Given the description of an element on the screen output the (x, y) to click on. 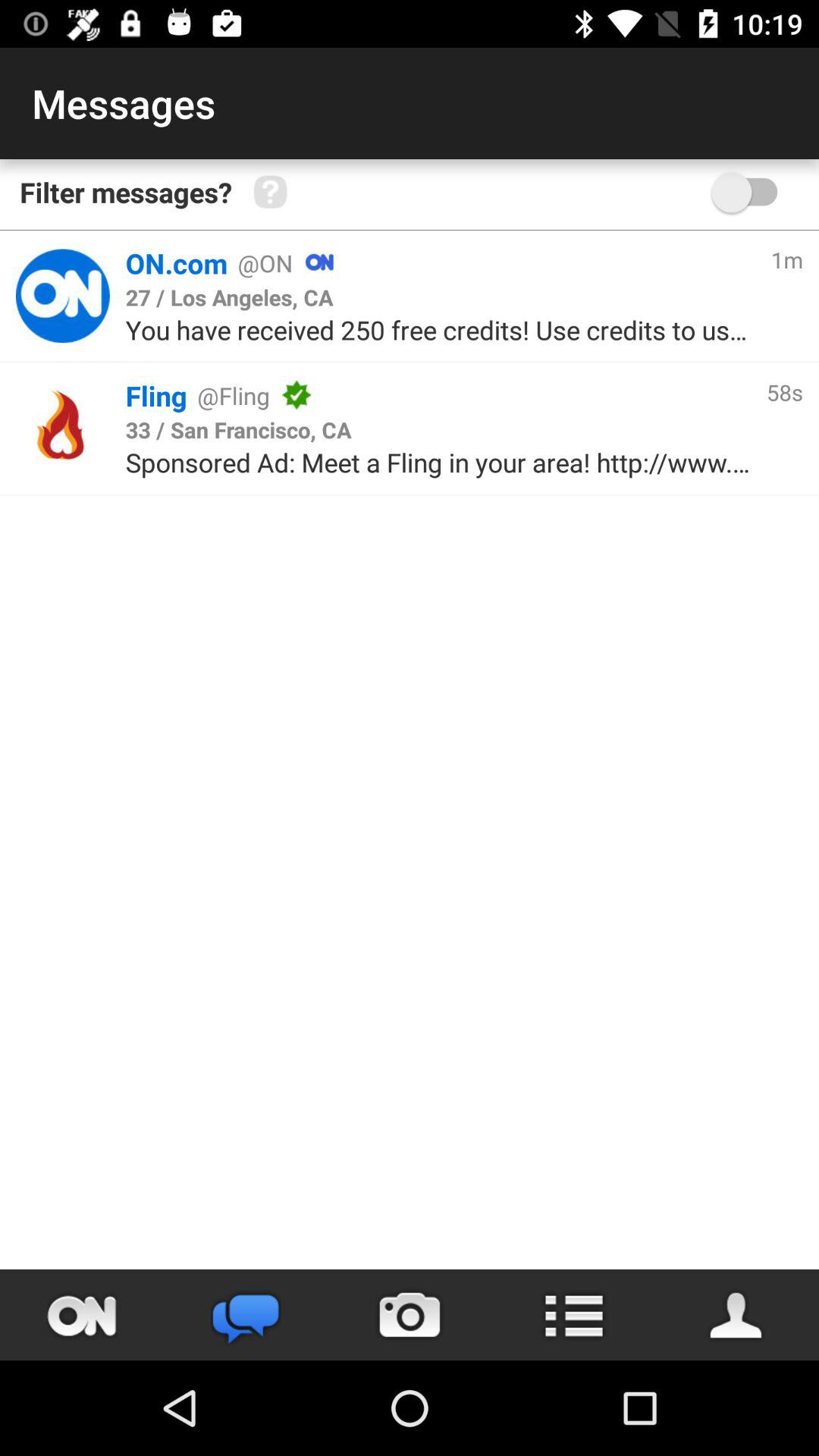
tap the sponsored ad meet (437, 462)
